Given the description of an element on the screen output the (x, y) to click on. 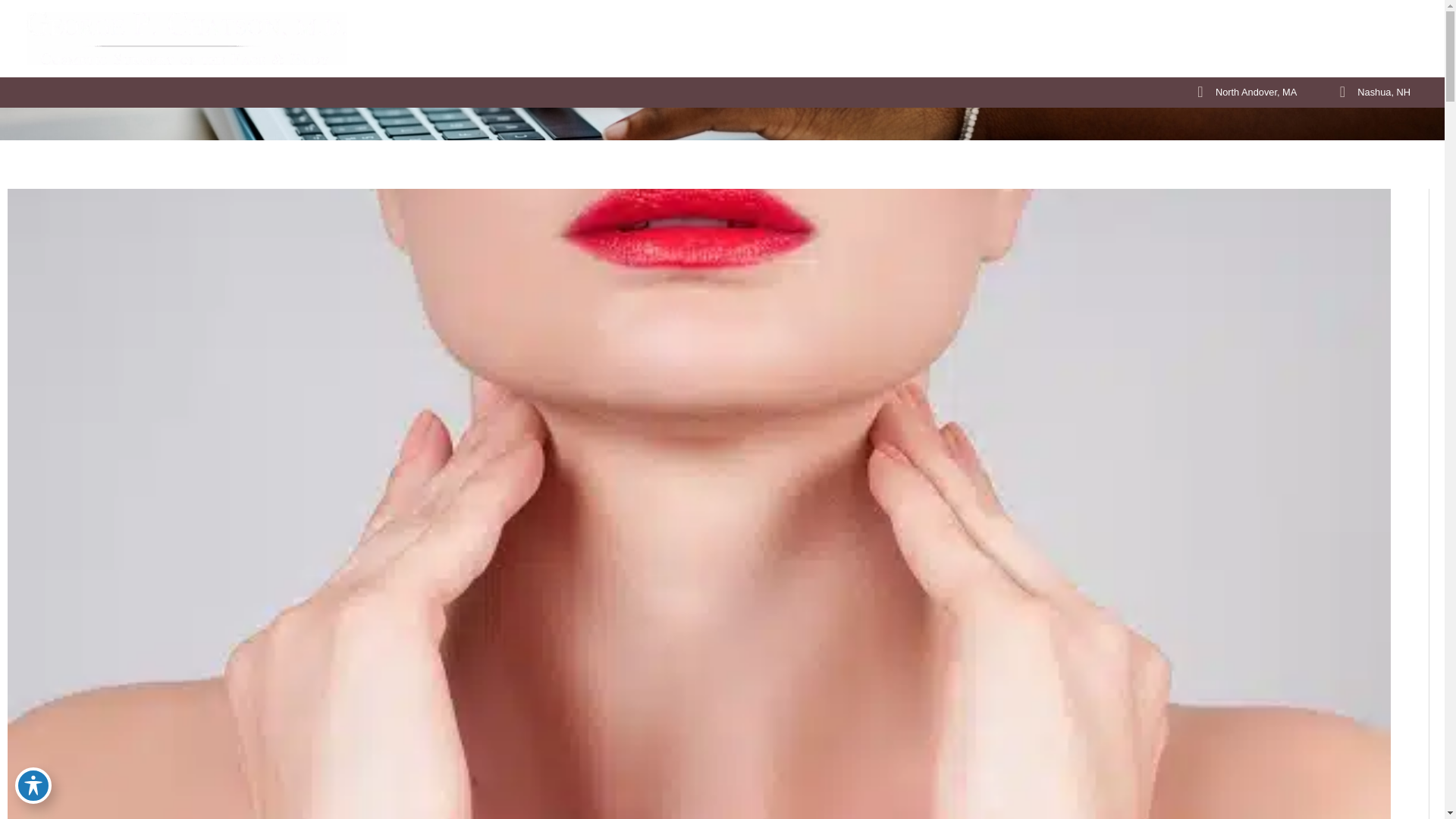
Plastic Surgery Procedures (937, 41)
About Us (827, 41)
Home (772, 41)
